Given the description of an element on the screen output the (x, y) to click on. 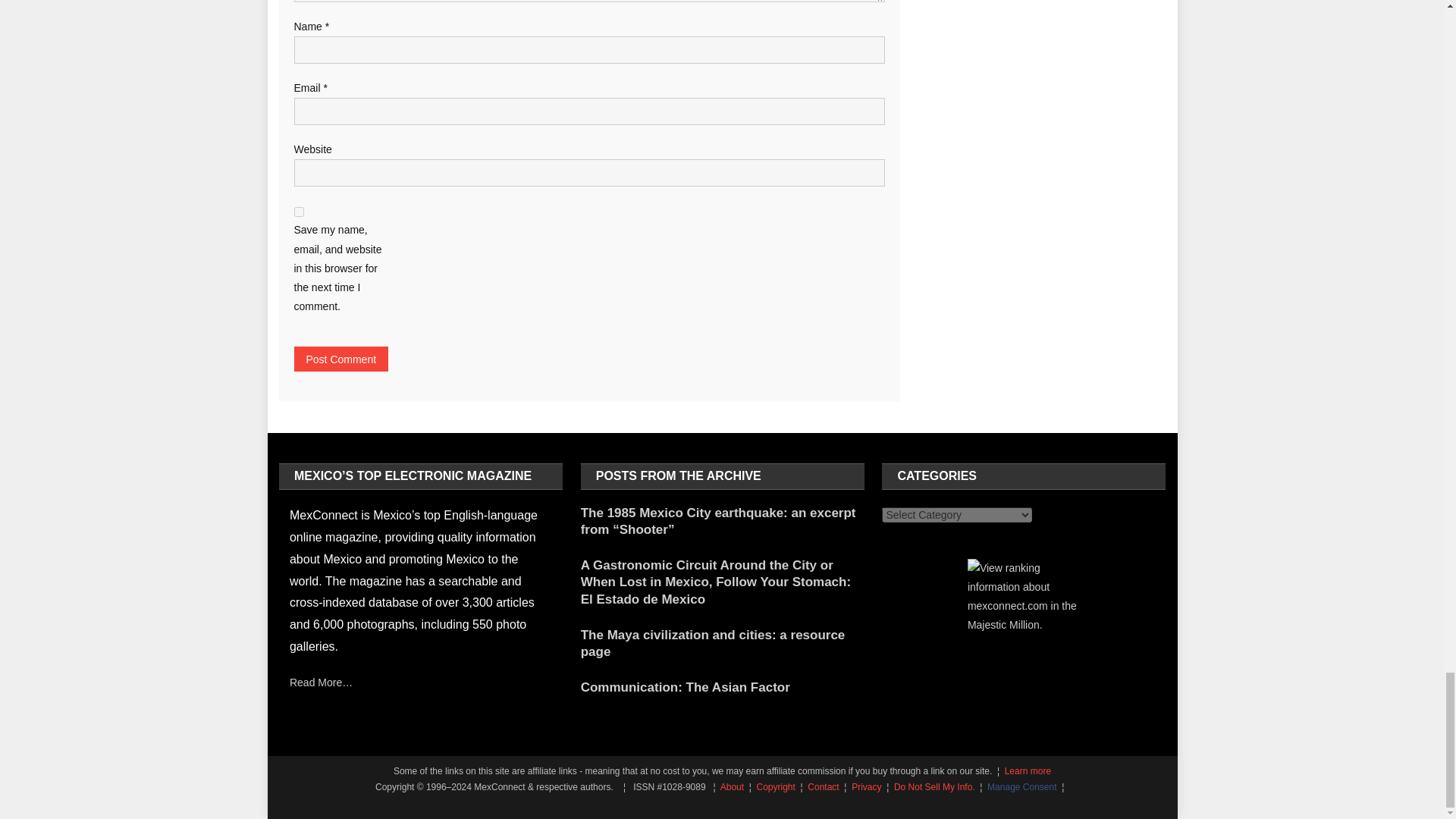
Post Comment (341, 358)
yes (299, 212)
